Given the description of an element on the screen output the (x, y) to click on. 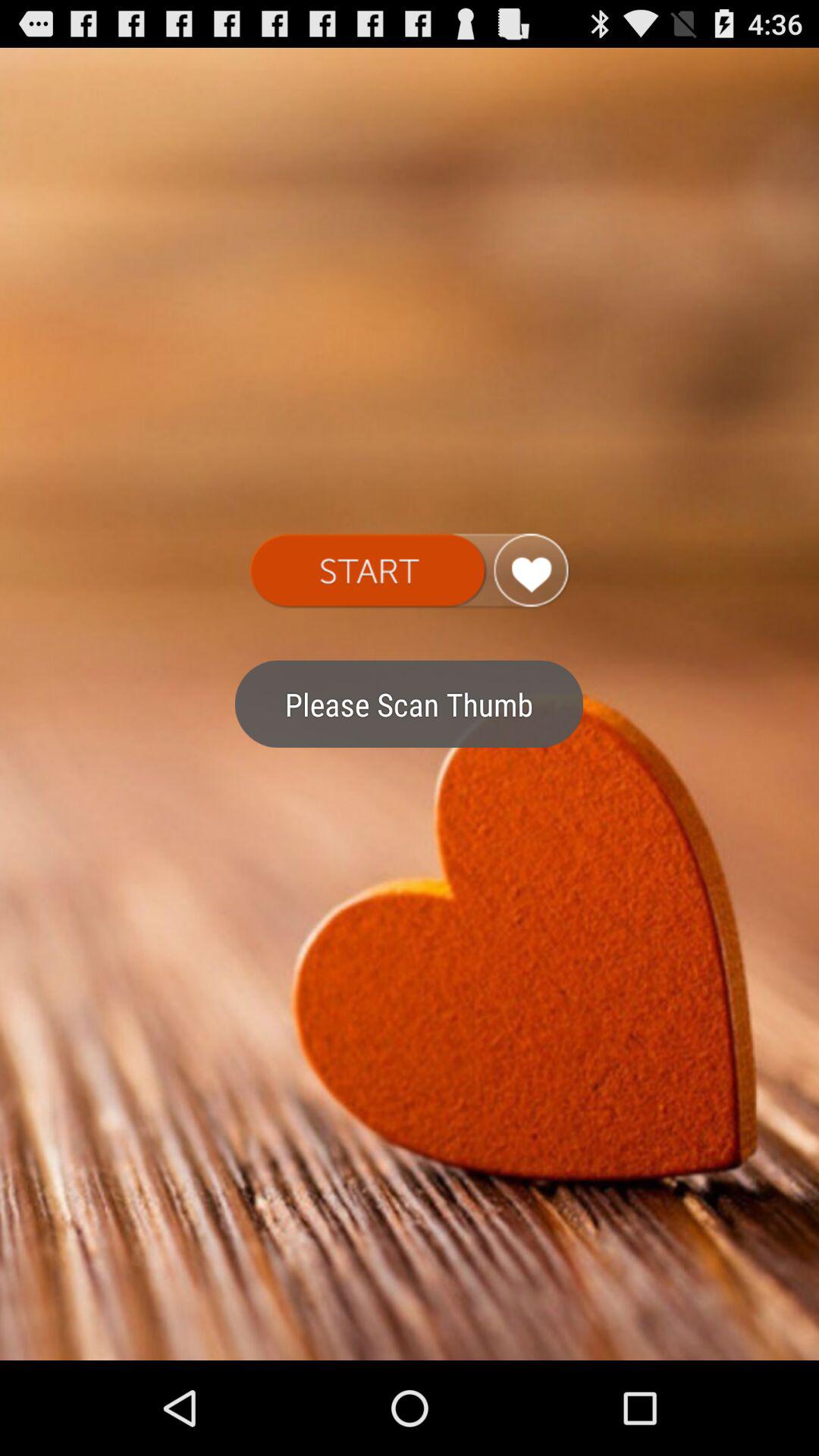
start the heart rate app (408, 571)
